Given the description of an element on the screen output the (x, y) to click on. 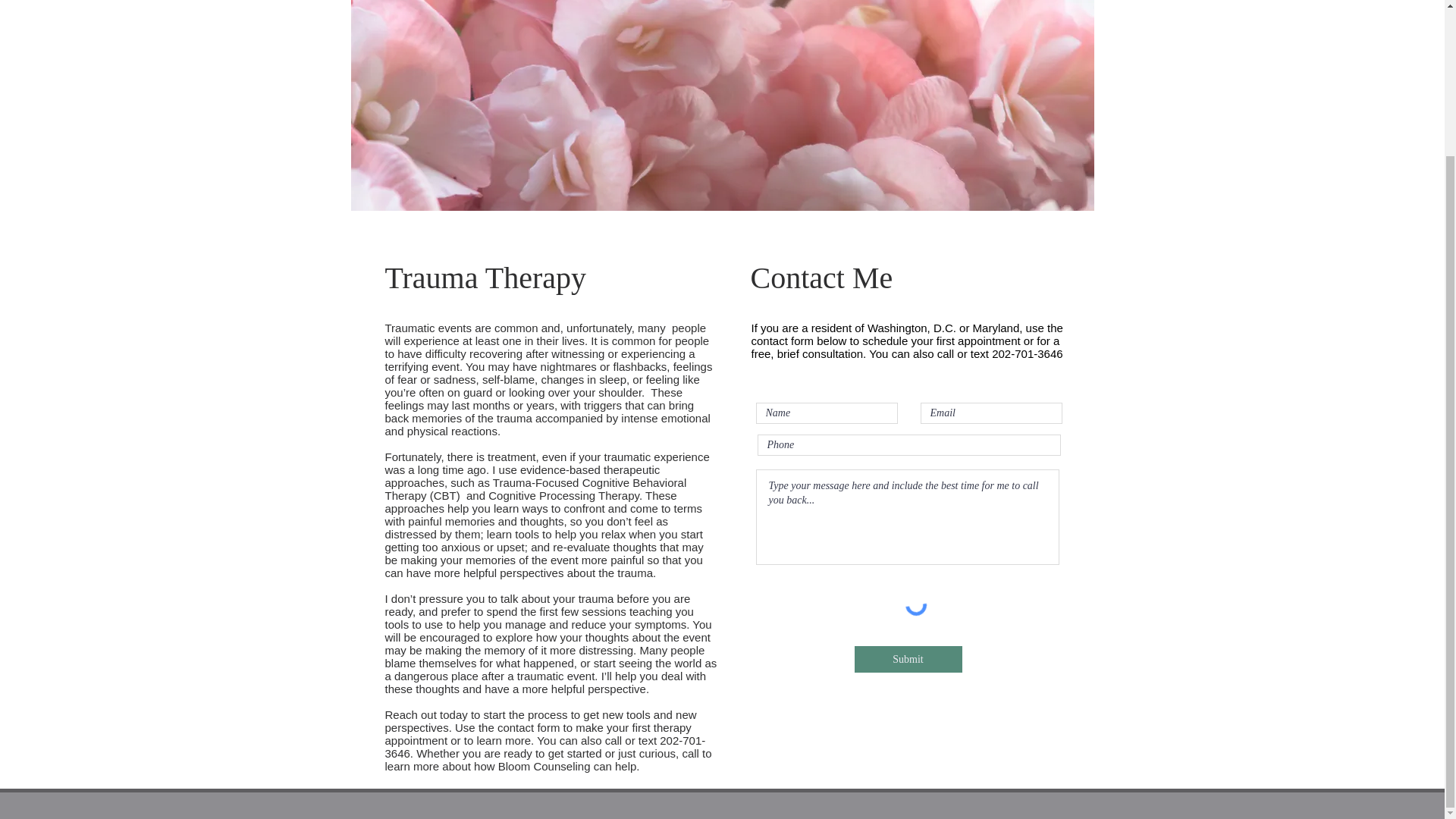
Submit (906, 659)
